Given the description of an element on the screen output the (x, y) to click on. 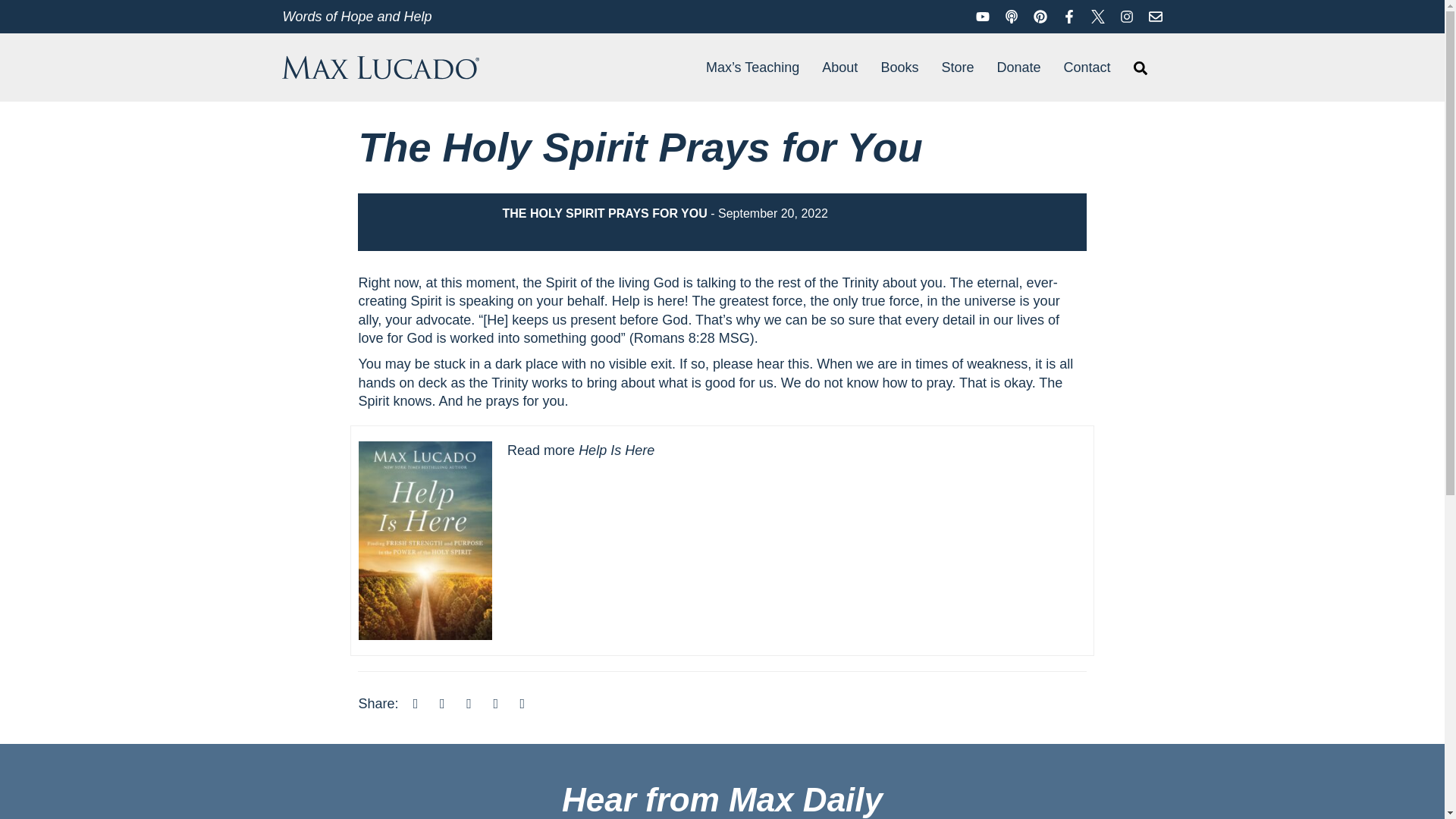
Books (899, 67)
Help Is Here (615, 450)
LinkedIn (469, 703)
The Holy Spirit Prays for You (722, 146)
Instagram (1126, 15)
The Holy Spirit Prays for You (722, 146)
Share via Facebook (415, 703)
Instagram (1126, 15)
Twitter (1097, 15)
Share via Pinterest (495, 703)
